Given the description of an element on the screen output the (x, y) to click on. 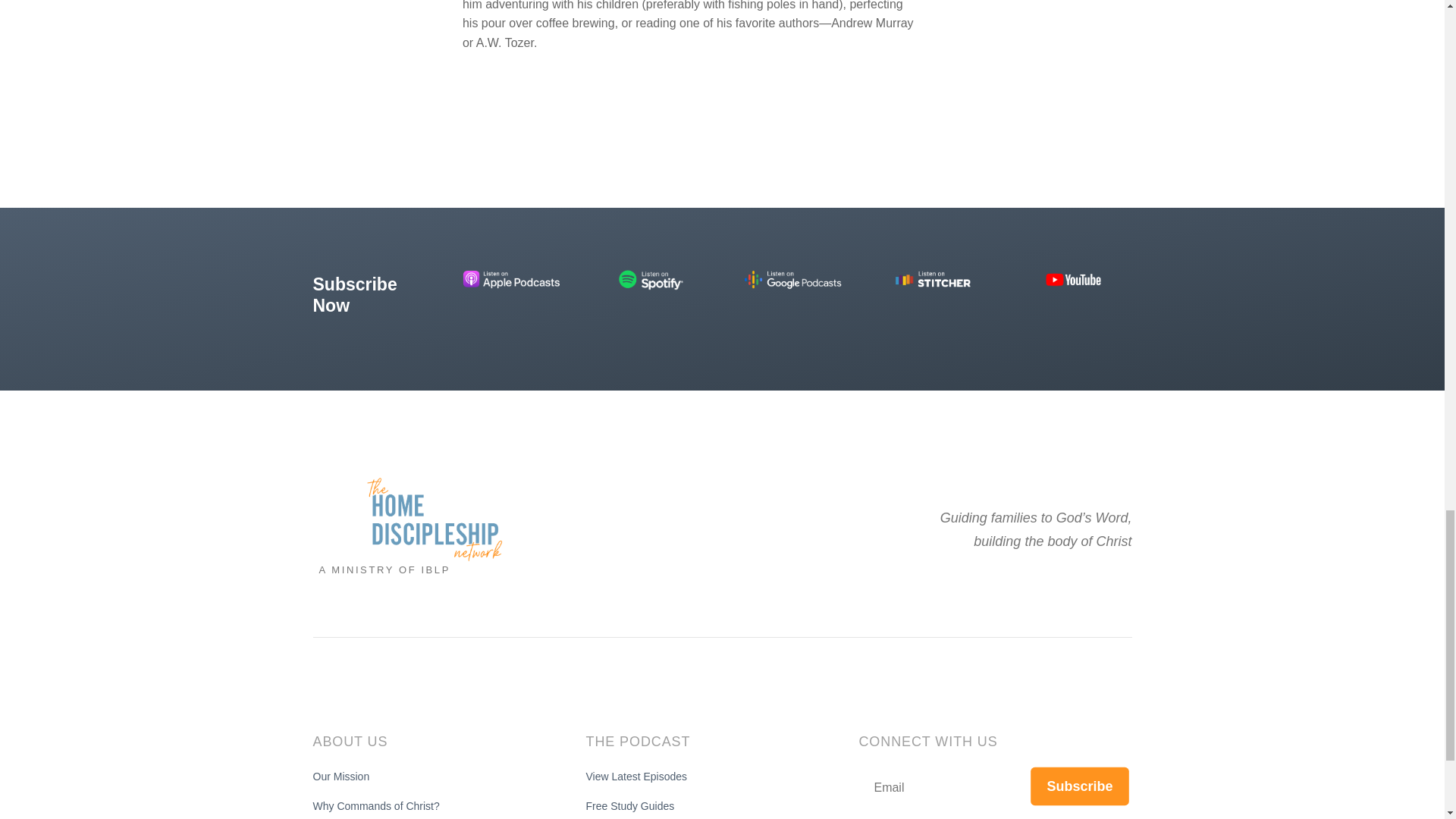
youtube-badge-750 (1072, 279)
spotify-badge-750 (652, 279)
google-podcasts-badge-750 (792, 279)
Group 1 (434, 518)
apple-podcasts-badge-750png (510, 279)
stitcher-badge-750 (933, 279)
